Given the description of an element on the screen output the (x, y) to click on. 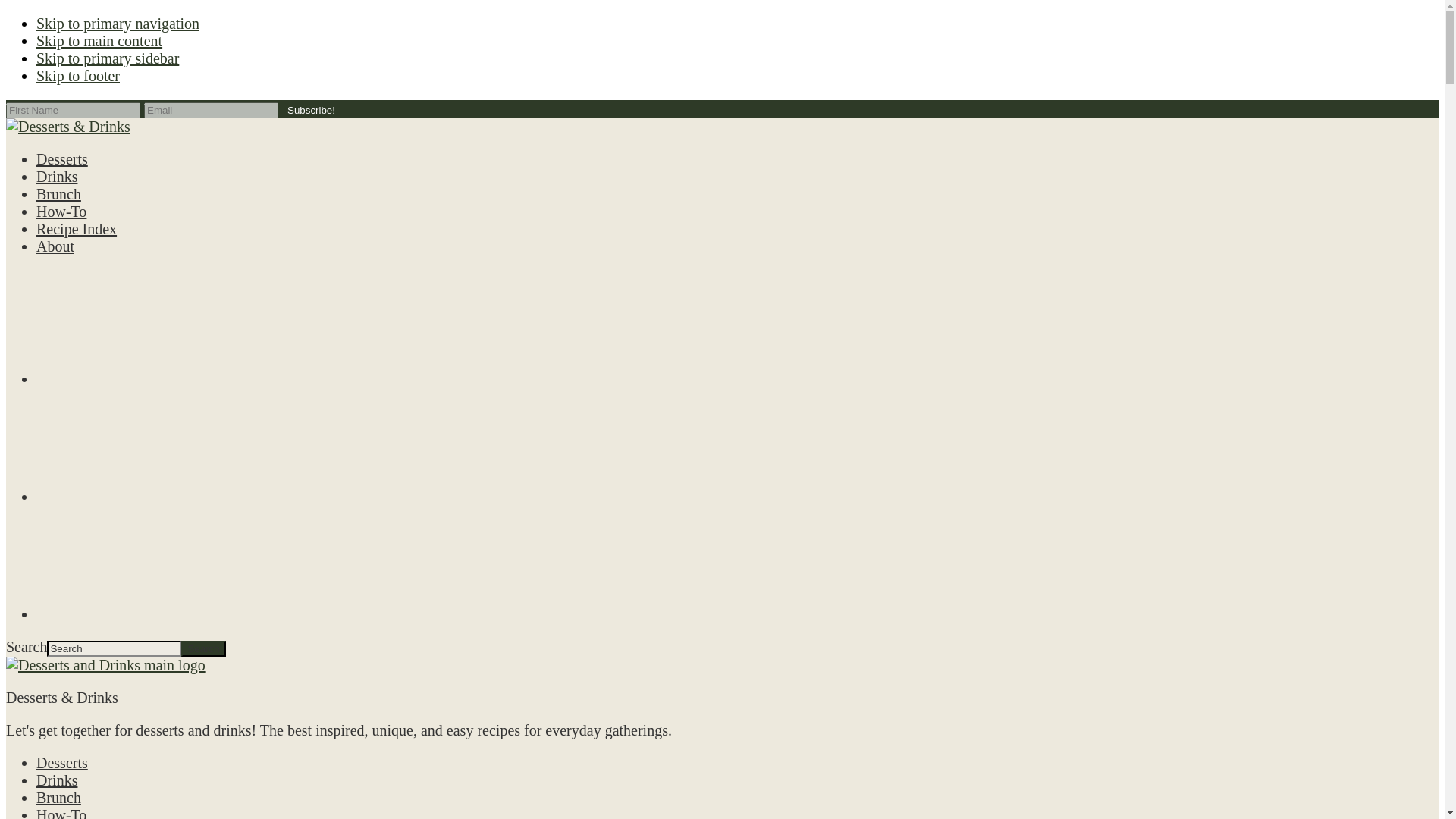
Drinks (56, 780)
Instagram (156, 445)
Search (202, 648)
Skip to primary navigation (117, 23)
Desserts (61, 762)
Pinterest (157, 614)
Facebook (157, 379)
Subscribe! (311, 110)
Brunch (58, 797)
Facebook (156, 327)
How-To (60, 812)
Desserts (61, 158)
Skip to primary sidebar (107, 57)
Search (202, 648)
Search (202, 648)
